Given the description of an element on the screen output the (x, y) to click on. 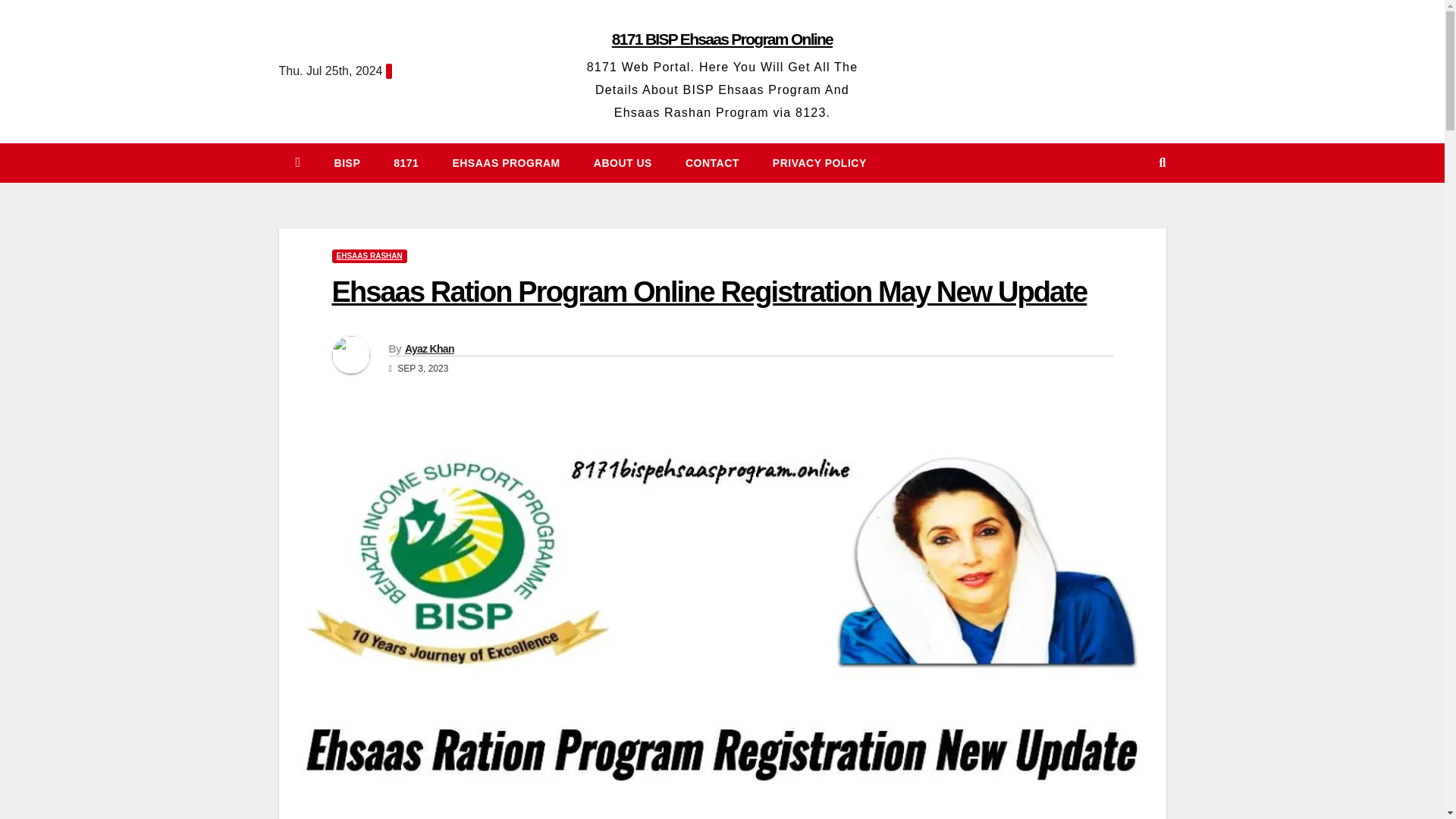
About Us (622, 162)
Ehsaas Program (505, 162)
PRIVACY POLICY (819, 162)
Ehsaas Ration Program Online Registration May New Update (709, 291)
EHSAAS PROGRAM (505, 162)
ABOUT US (622, 162)
8171 BISP Ehsaas Program Online (721, 38)
8171 (406, 162)
CONTACT (711, 162)
Privacy Policy (819, 162)
BISP (347, 162)
Contact (711, 162)
8171 (406, 162)
EHSAAS RASHAN (369, 255)
